Given the description of an element on the screen output the (x, y) to click on. 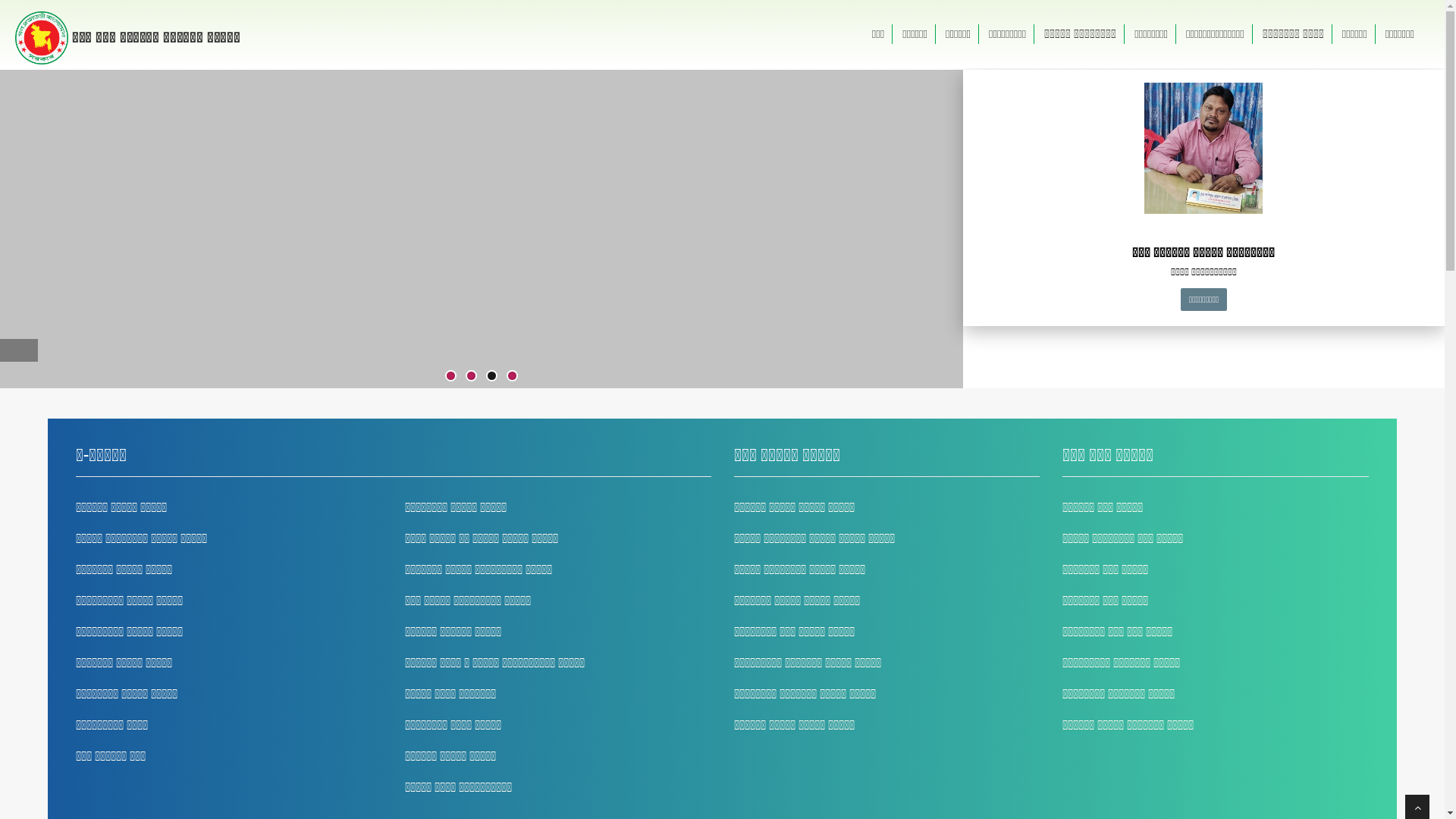
2 Element type: text (471, 375)
3 Element type: text (491, 375)
4 Element type: text (512, 375)
1 Element type: text (450, 375)
